Given the description of an element on the screen output the (x, y) to click on. 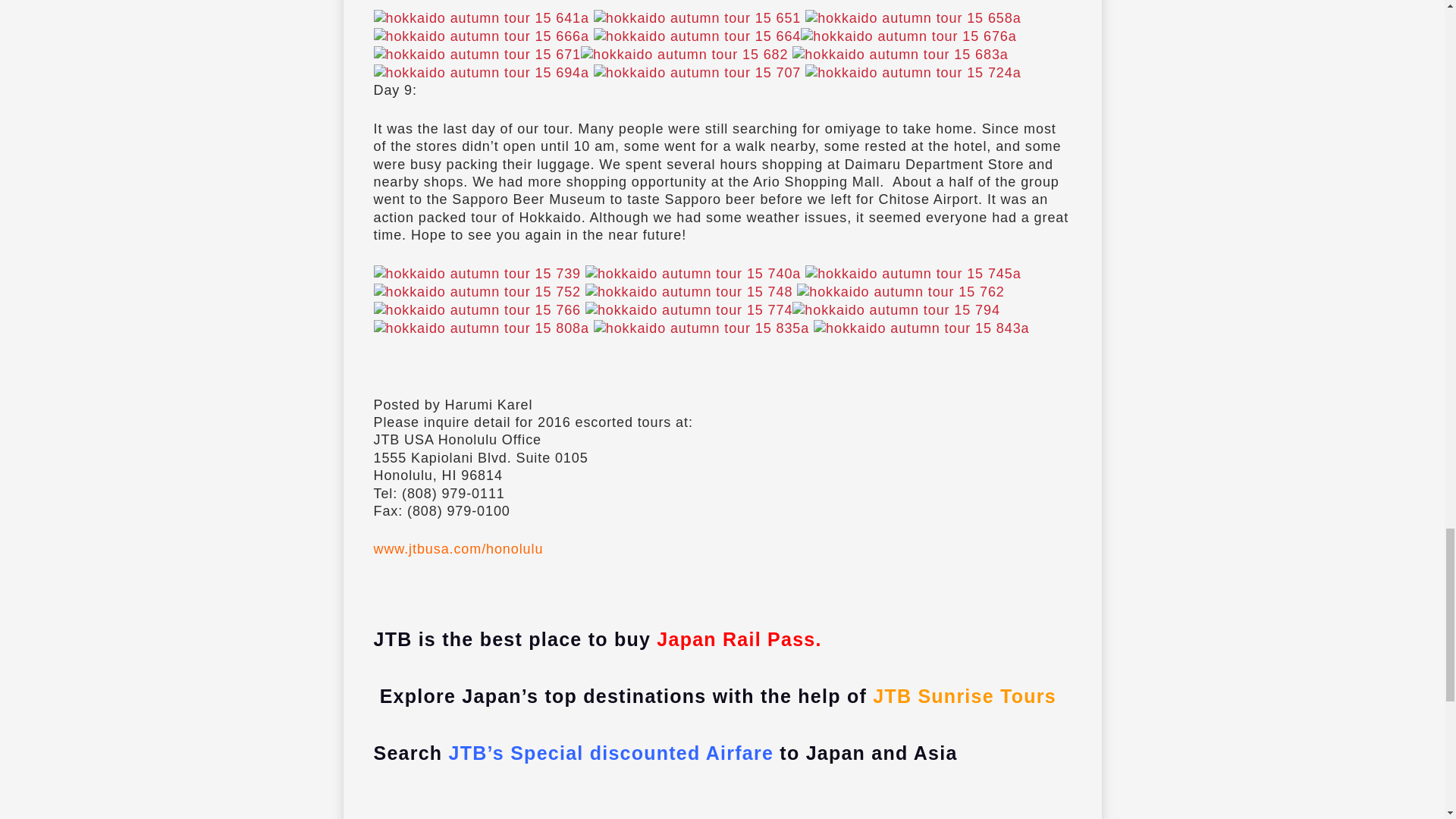
JTB Sunrise Tours (961, 695)
